Given the description of an element on the screen output the (x, y) to click on. 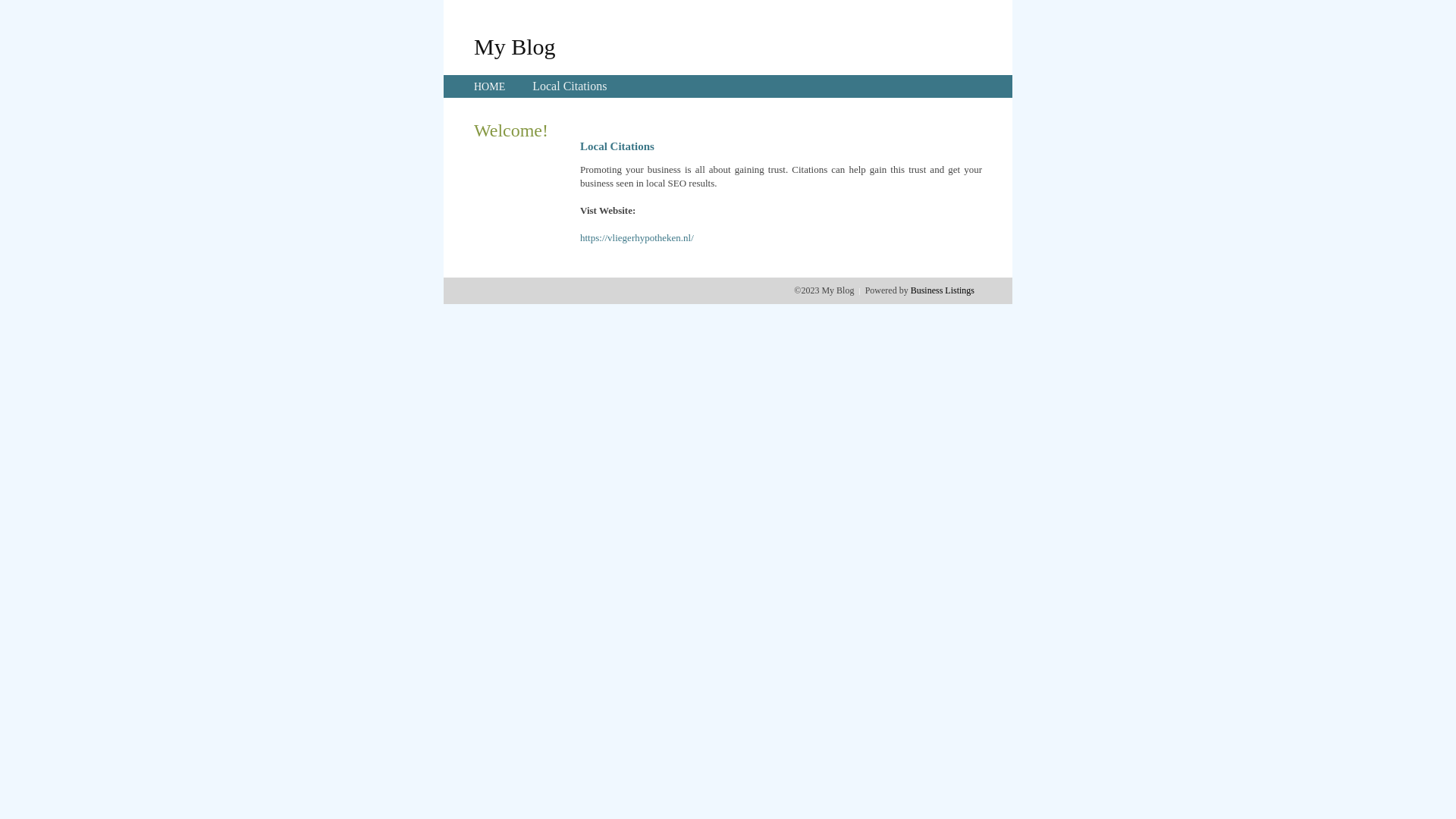
HOME Element type: text (489, 86)
Local Citations Element type: text (569, 85)
Business Listings Element type: text (942, 290)
My Blog Element type: text (514, 46)
https://vliegerhypotheken.nl/ Element type: text (636, 237)
